Given the description of an element on the screen output the (x, y) to click on. 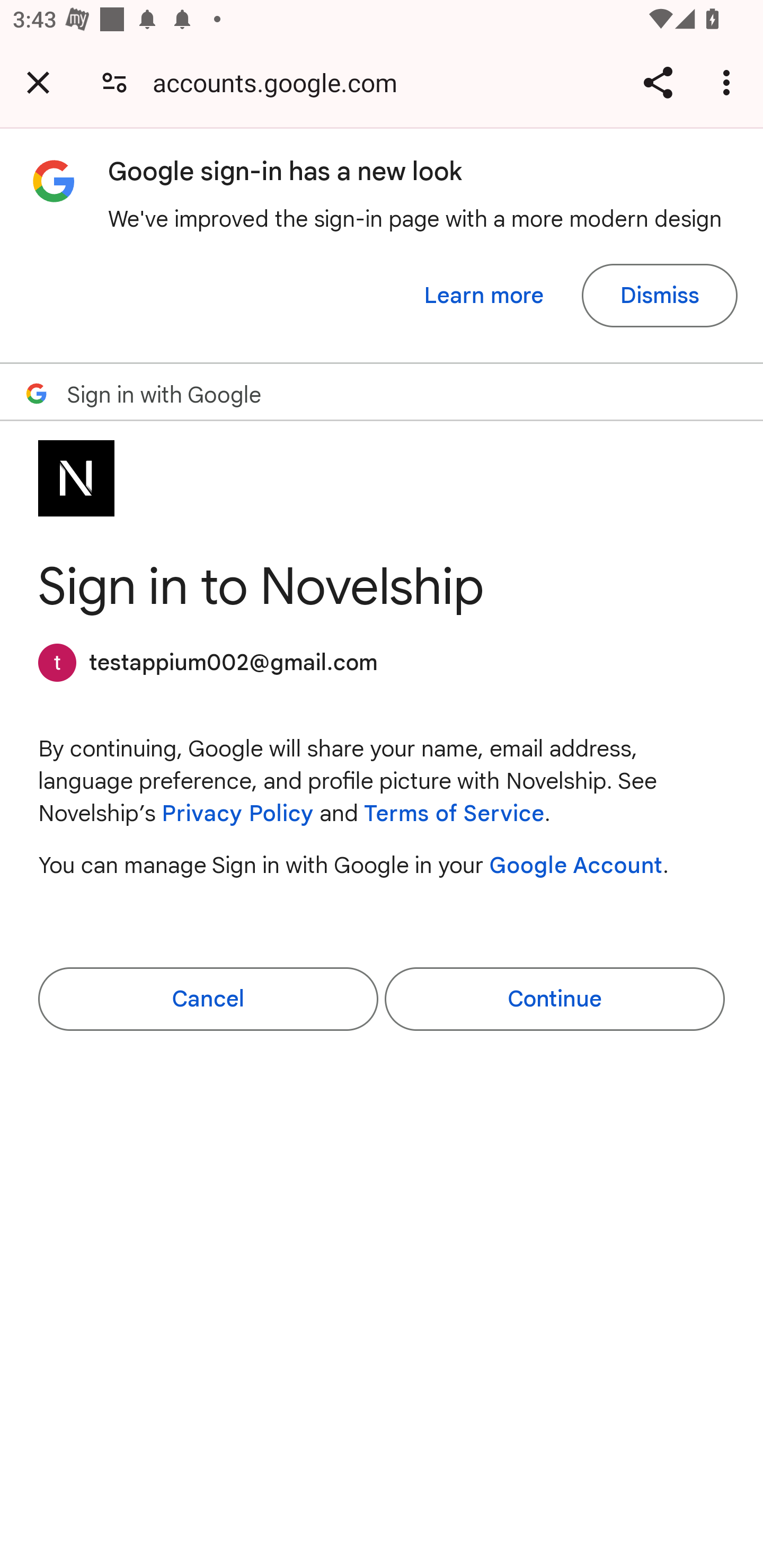
Close tab (38, 82)
Share (657, 82)
Customize and control Google Chrome (729, 82)
Connection is secure (114, 81)
accounts.google.com (281, 81)
Learn more (483, 295)
Dismiss (659, 295)
Privacy Policy (237, 814)
Terms of Service (453, 814)
Google Account (576, 864)
Cancel (208, 998)
Continue (554, 998)
